Given the description of an element on the screen output the (x, y) to click on. 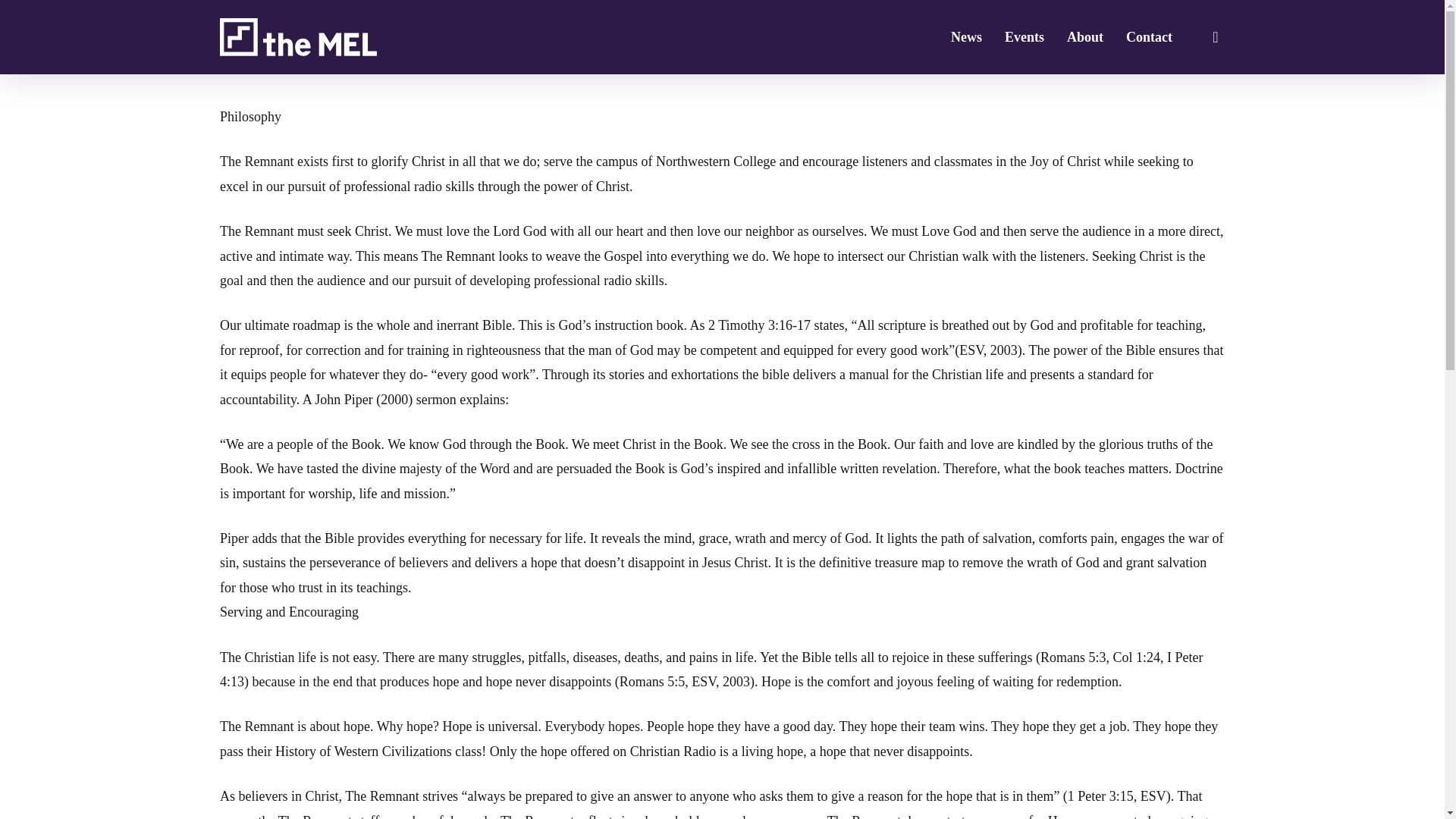
About (1085, 37)
Contact (1148, 37)
Events (1023, 37)
News (965, 37)
search (1215, 36)
